Given the description of an element on the screen output the (x, y) to click on. 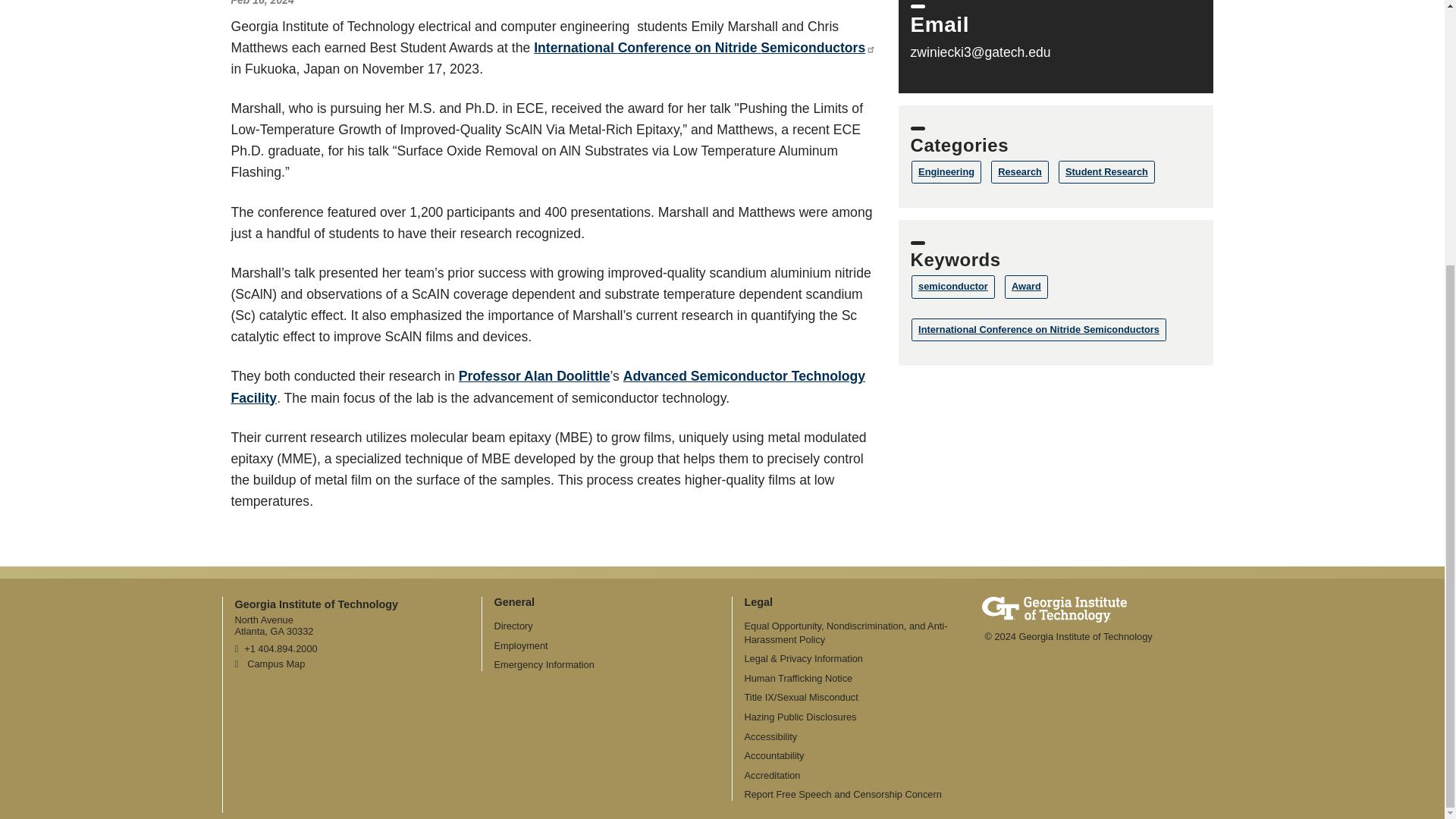
Georgia Institute of Technology Employment (521, 645)
Georgia Human Trafficking Resources (798, 677)
Georgia Institute of Technology Emergency Information (544, 664)
Georgia Institute of Technology Accountability Resources (774, 755)
Georgia Institute of Technology Directory (513, 625)
Georgia Institute of Technology Accessibility Resources (770, 736)
Georgia Tech Hazing Conduct History (800, 716)
Legal Main Menu Category (758, 602)
General Main Menu Category (515, 602)
